Given the description of an element on the screen output the (x, y) to click on. 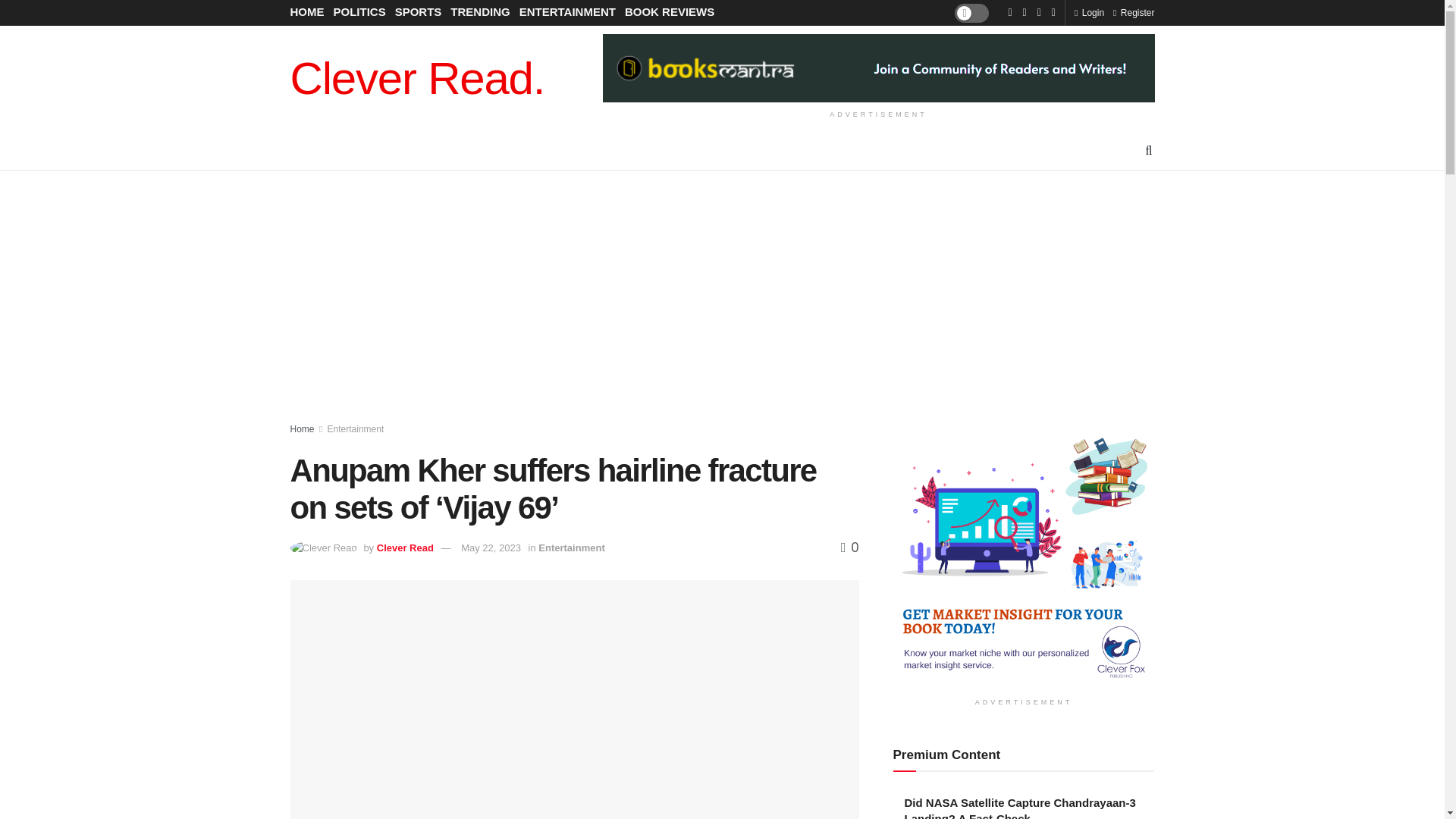
TRENDING (479, 11)
Clever Read. (416, 78)
May 22, 2023 (491, 547)
ENTERTAINMENT (567, 11)
Home (301, 429)
Entertainment (355, 429)
BOOK REVIEWS (669, 11)
POLITICS (359, 11)
Register (1133, 12)
Clever Read (405, 547)
Entertainment (571, 547)
0 (850, 547)
SPORTS (418, 11)
HOME (306, 11)
Login (1088, 12)
